Given the description of an element on the screen output the (x, y) to click on. 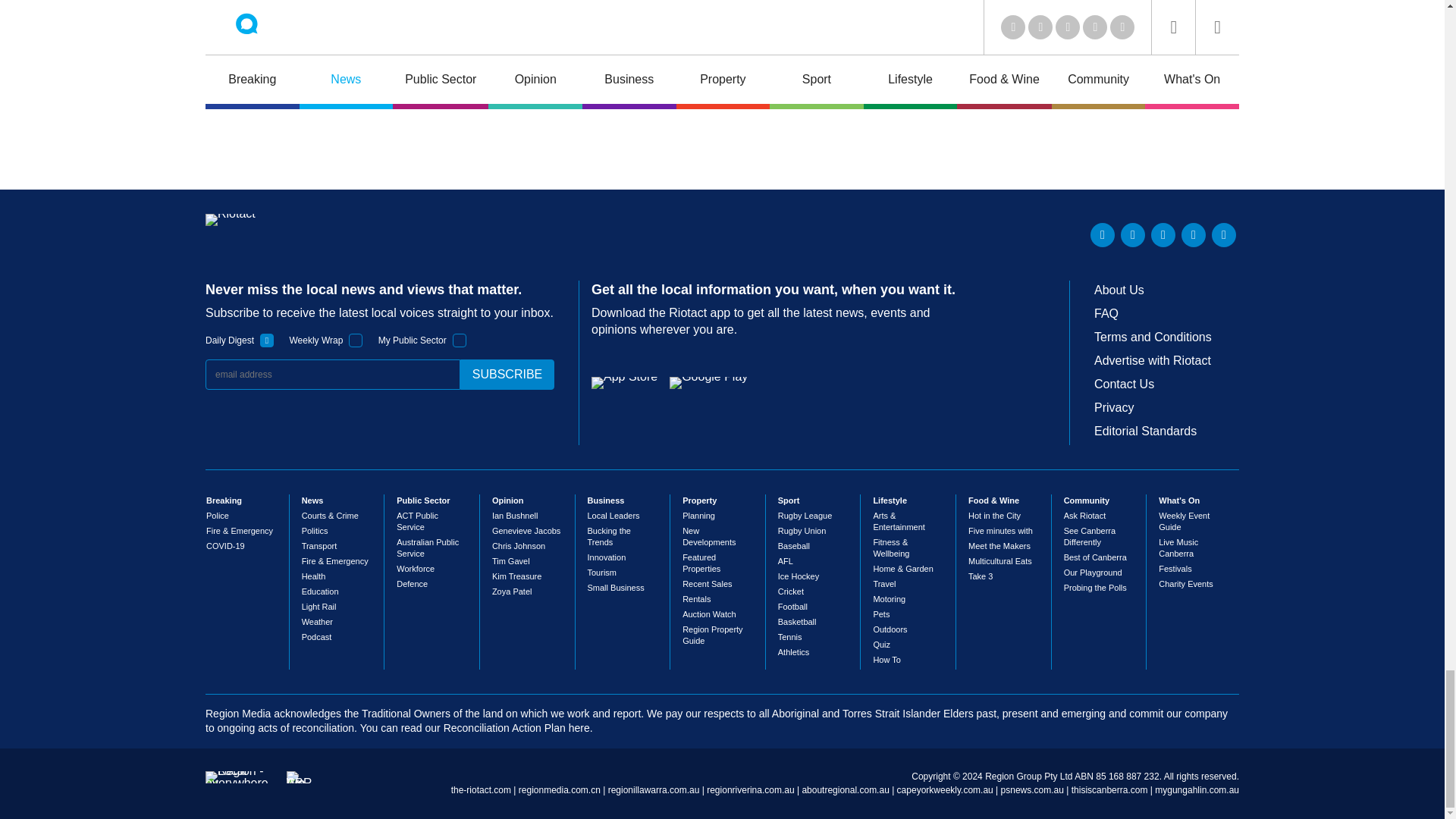
Youtube (1162, 234)
Twitter (1132, 234)
Facebook (1192, 234)
1 (458, 340)
App Store (624, 382)
1 (266, 340)
subscribe (507, 374)
LinkedIn (1102, 234)
1 (355, 340)
Instagram (1223, 234)
